Given the description of an element on the screen output the (x, y) to click on. 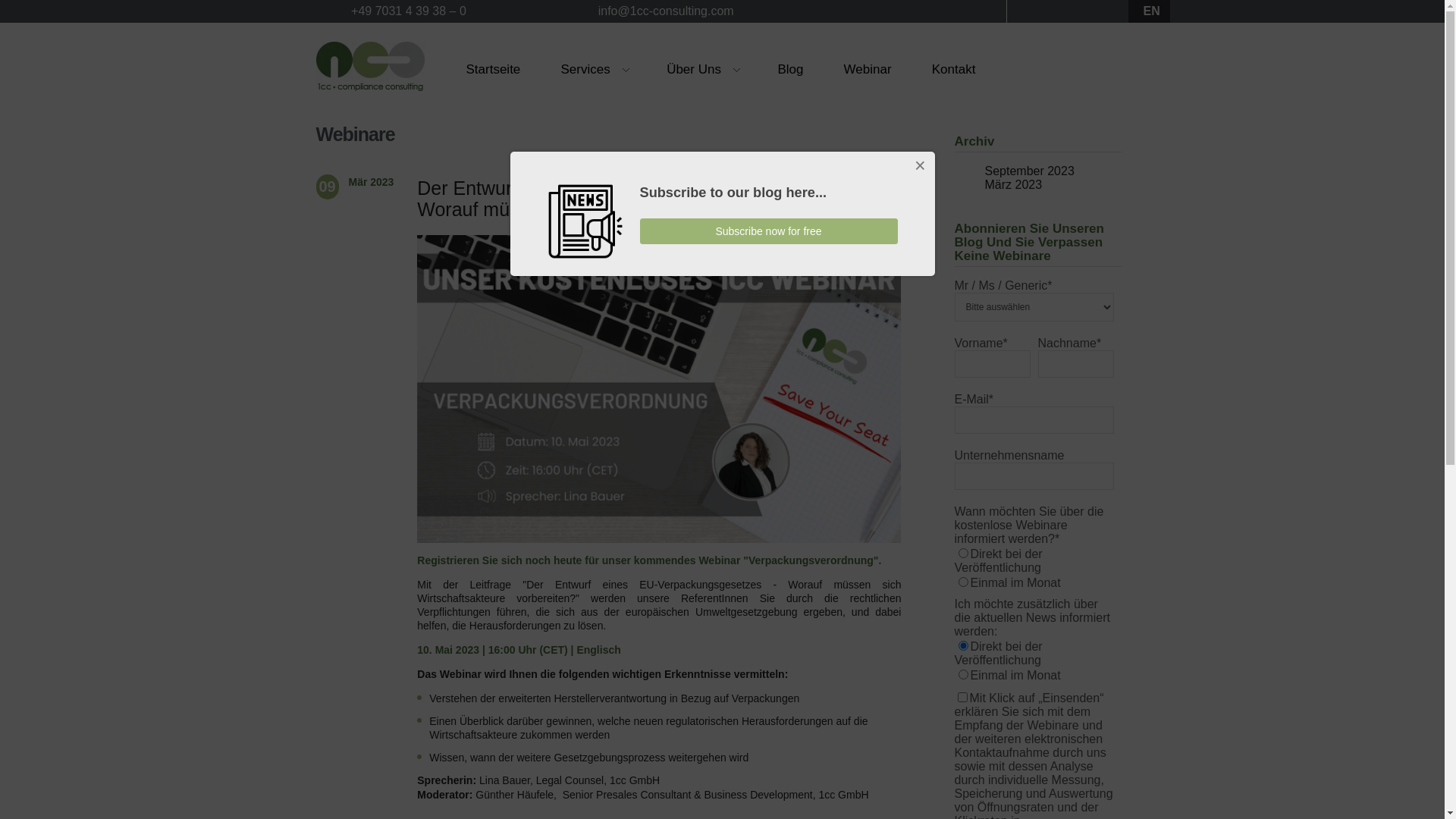
September 2023 Element type: text (1028, 170)
Startseite Element type: text (493, 68)
info@1cc-consulting.com Element type: text (664, 10)
Blog Element type: text (789, 68)
Subscribe now for free Element type: text (768, 231)
Webinar Element type: text (867, 68)
EN Element type: text (1151, 10)
Kontakt Element type: text (953, 68)
